Given the description of an element on the screen output the (x, y) to click on. 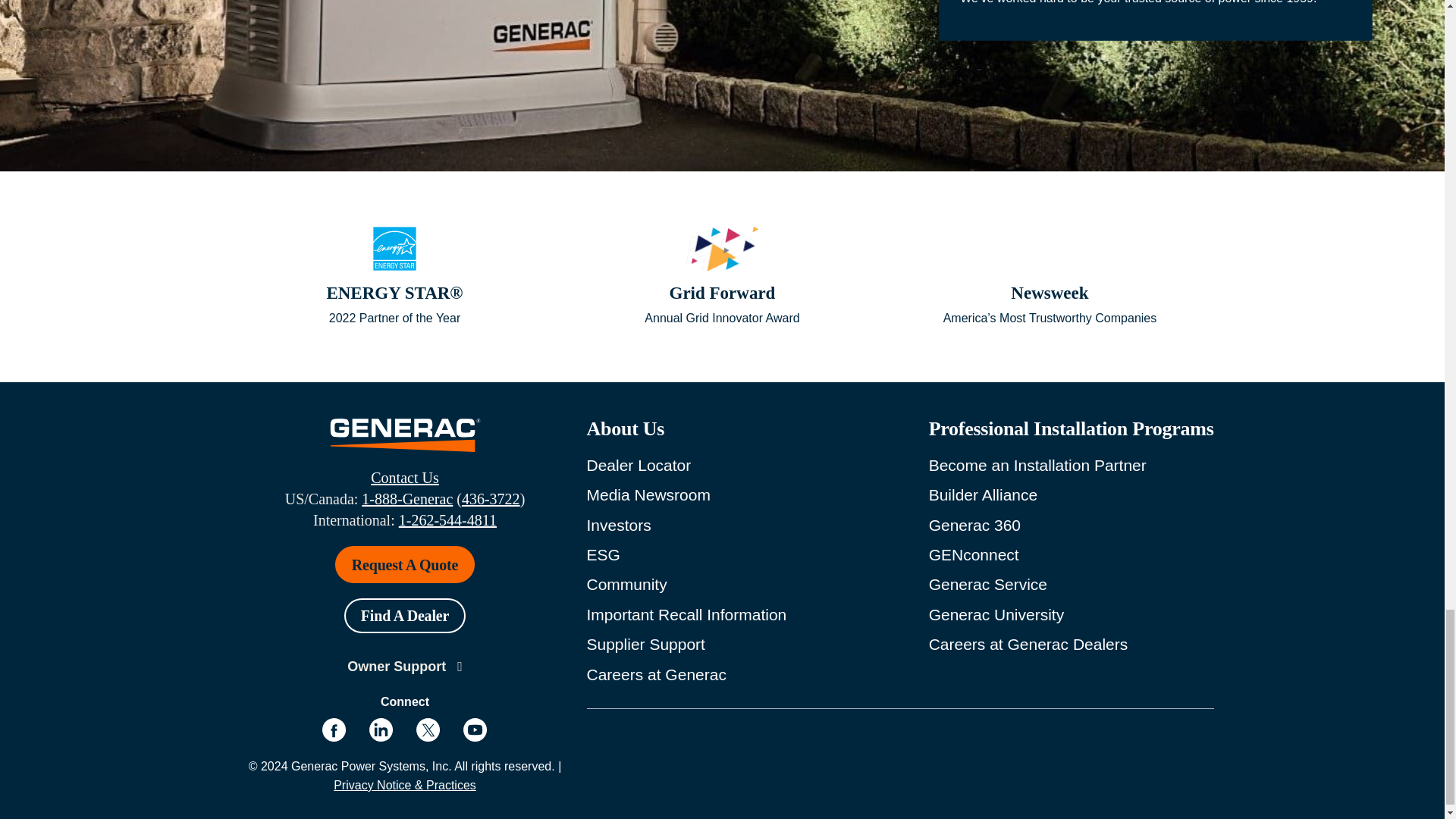
Supplier Support (686, 644)
Investors (686, 525)
Builder Alliance (1071, 495)
Generac 360 (1071, 525)
About Us (625, 428)
ESG (686, 554)
Community (686, 584)
GENconnect (1071, 554)
Professional Installation Programs (1071, 428)
Media Newsroom (686, 495)
